Given the description of an element on the screen output the (x, y) to click on. 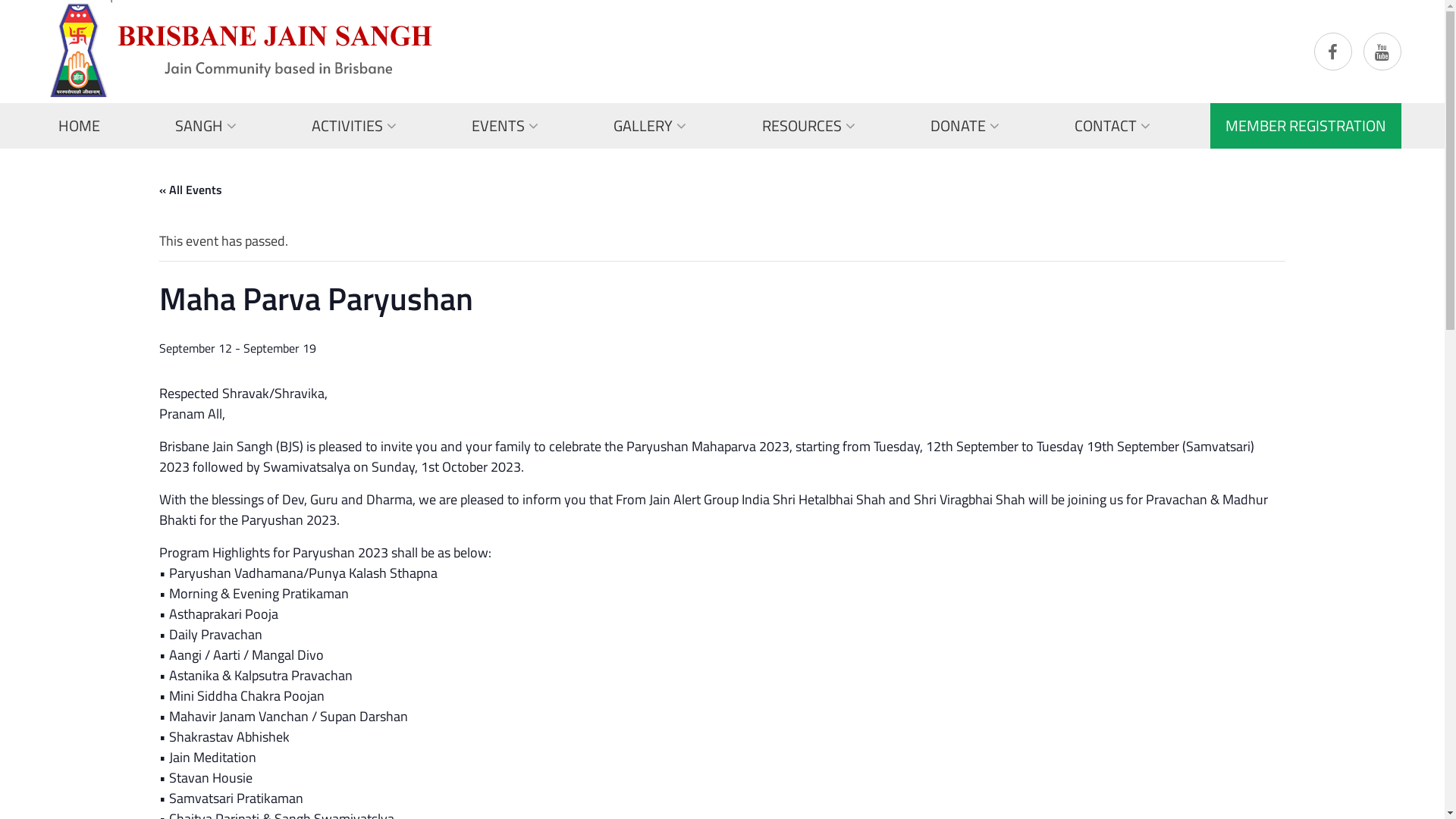
RESOURCES Element type: text (808, 125)
CONTACT Element type: text (1112, 125)
HOME Element type: text (79, 125)
MEMBER REGISTRATION Element type: text (1305, 125)
SANGH Element type: text (205, 125)
EVENTS Element type: text (504, 125)
Skip to primary navigation Element type: text (0, 0)
ACTIVITIES Element type: text (353, 125)
GALLERY Element type: text (649, 125)
Brisbane Jain Sangh Element type: hover (237, 48)
DONATE Element type: text (964, 125)
